Given the description of an element on the screen output the (x, y) to click on. 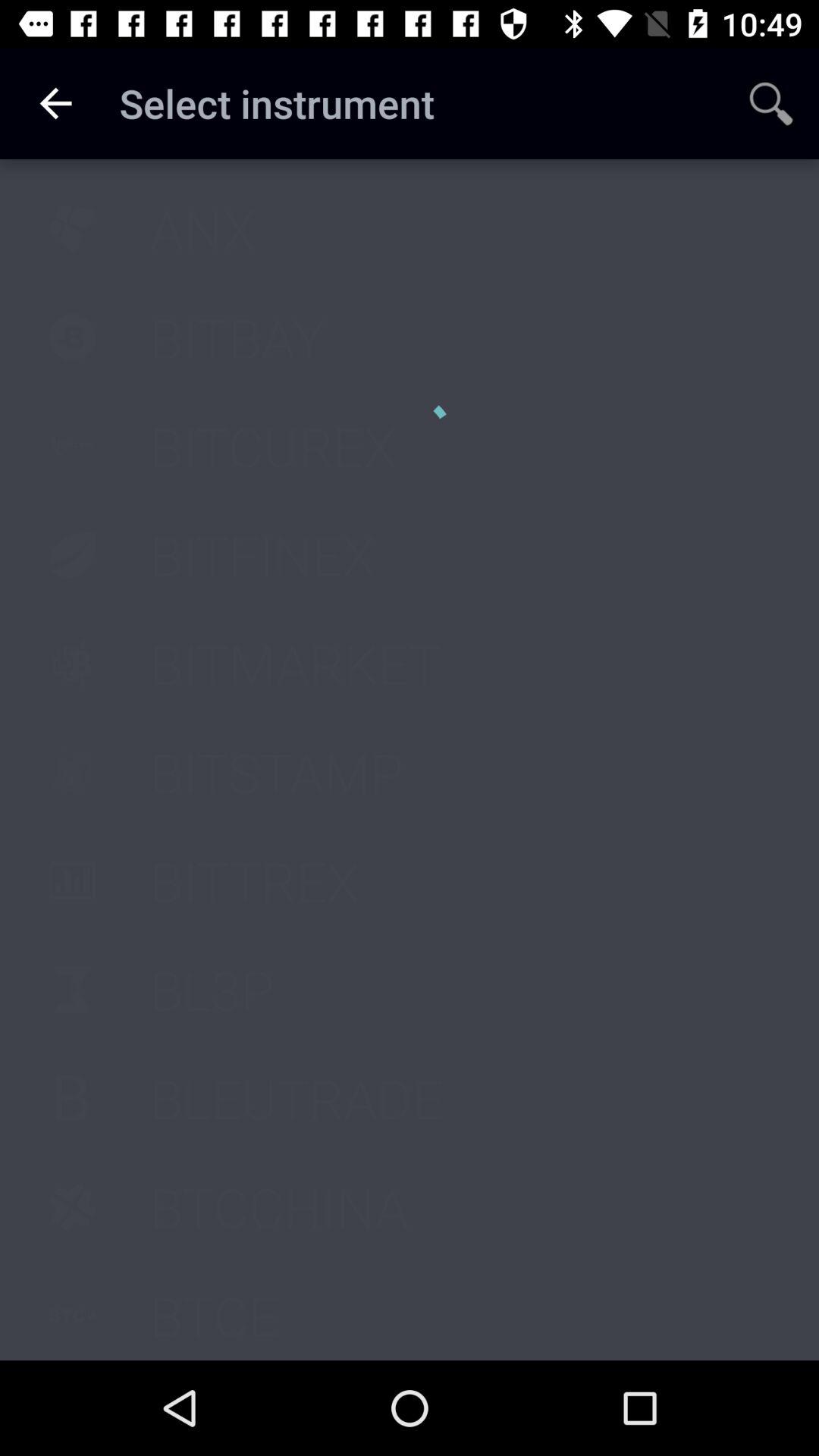
click on search icon (771, 103)
